Given the description of an element on the screen output the (x, y) to click on. 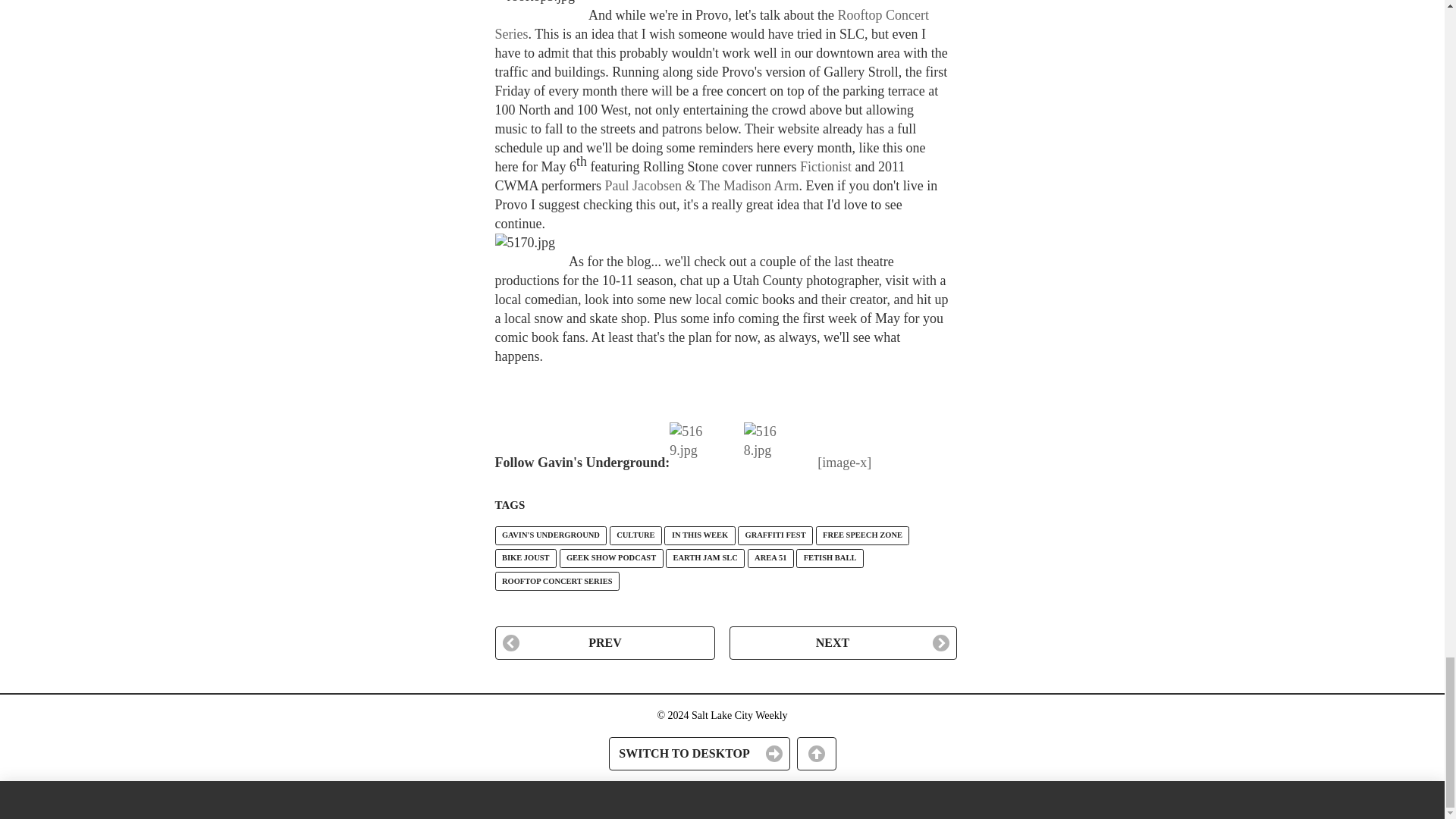
ROOFTOP CONCERT SERIES (556, 580)
GRAFFITI FEST (775, 535)
Fictionist (825, 166)
IN THIS WEEK (699, 535)
GEEK SHOW PODCAST (611, 558)
GAVIN'S UNDERGROUND (551, 535)
NEXT (842, 643)
BIKE JOUST (525, 558)
EARTH JAM SLC (704, 558)
PREV (604, 643)
